Given the description of an element on the screen output the (x, y) to click on. 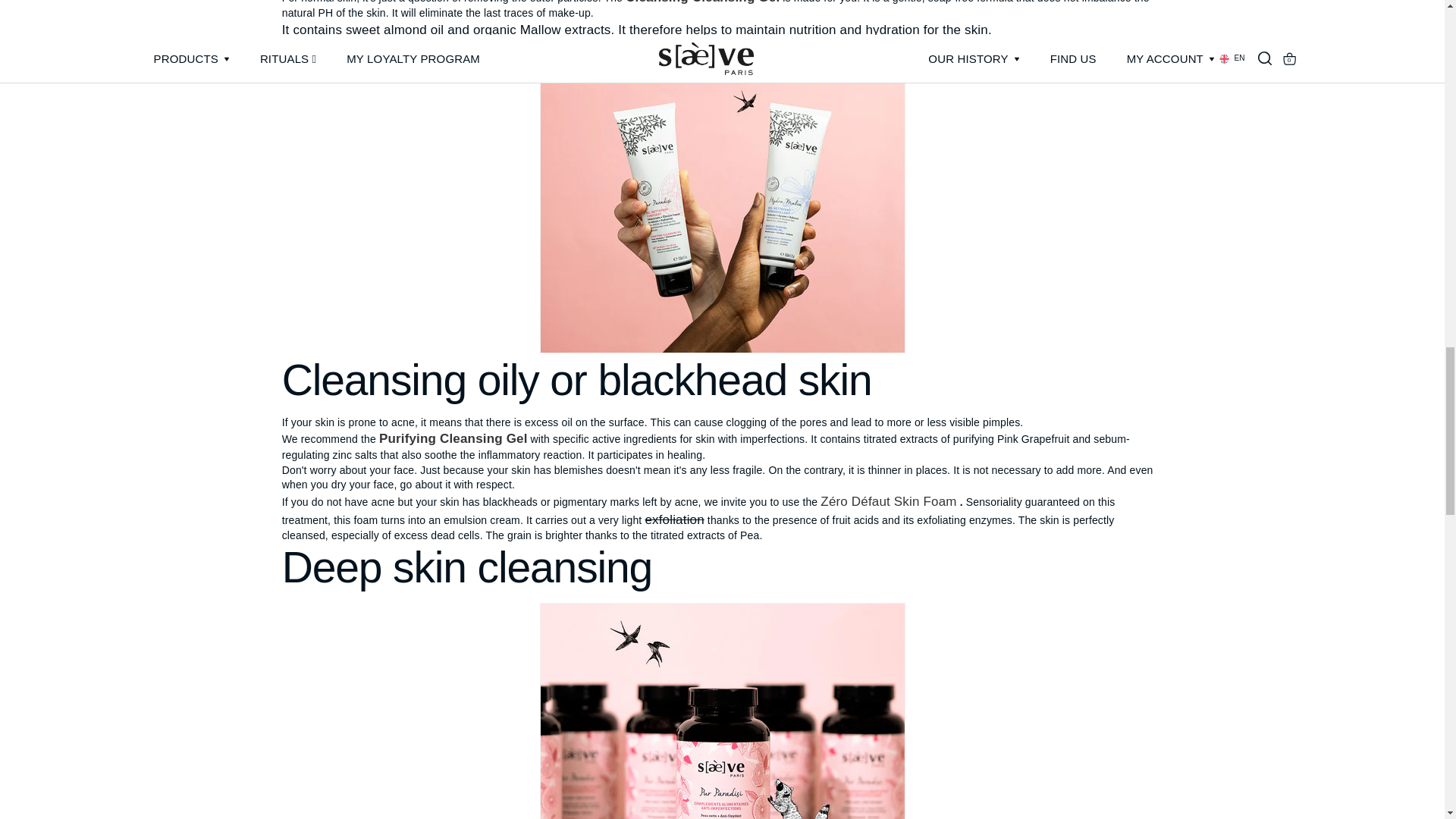
Purifying Cleansing Gel, Pur Paradisi (452, 438)
Flawless Skin Mousse, Perfect Pisum (888, 501)
Makeup Removing Cleansing Gel, Hydra Malva (702, 2)
